Given the description of an element on the screen output the (x, y) to click on. 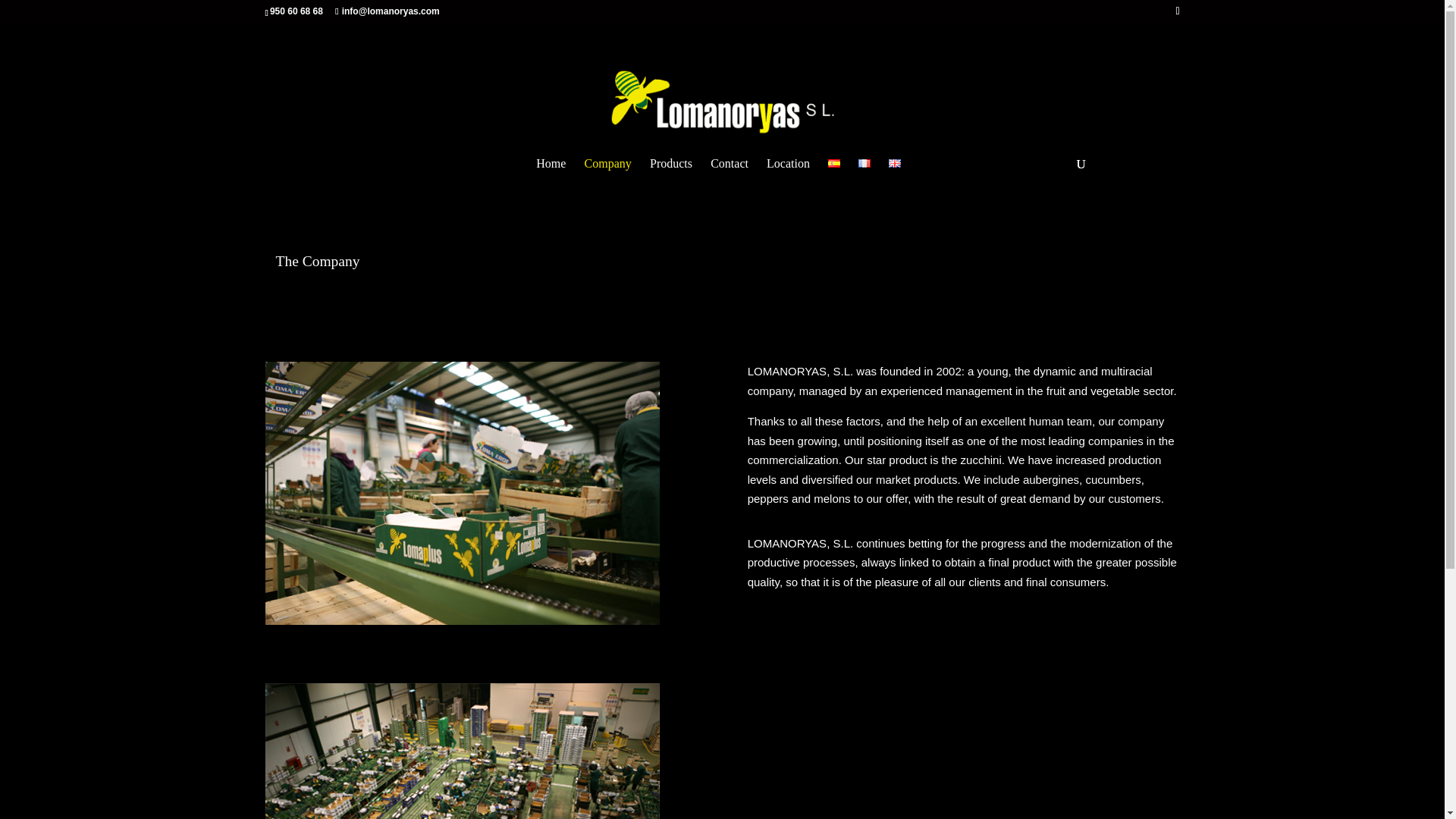
Company (608, 165)
Contact (729, 165)
Products (671, 165)
Location (788, 165)
